Given the description of an element on the screen output the (x, y) to click on. 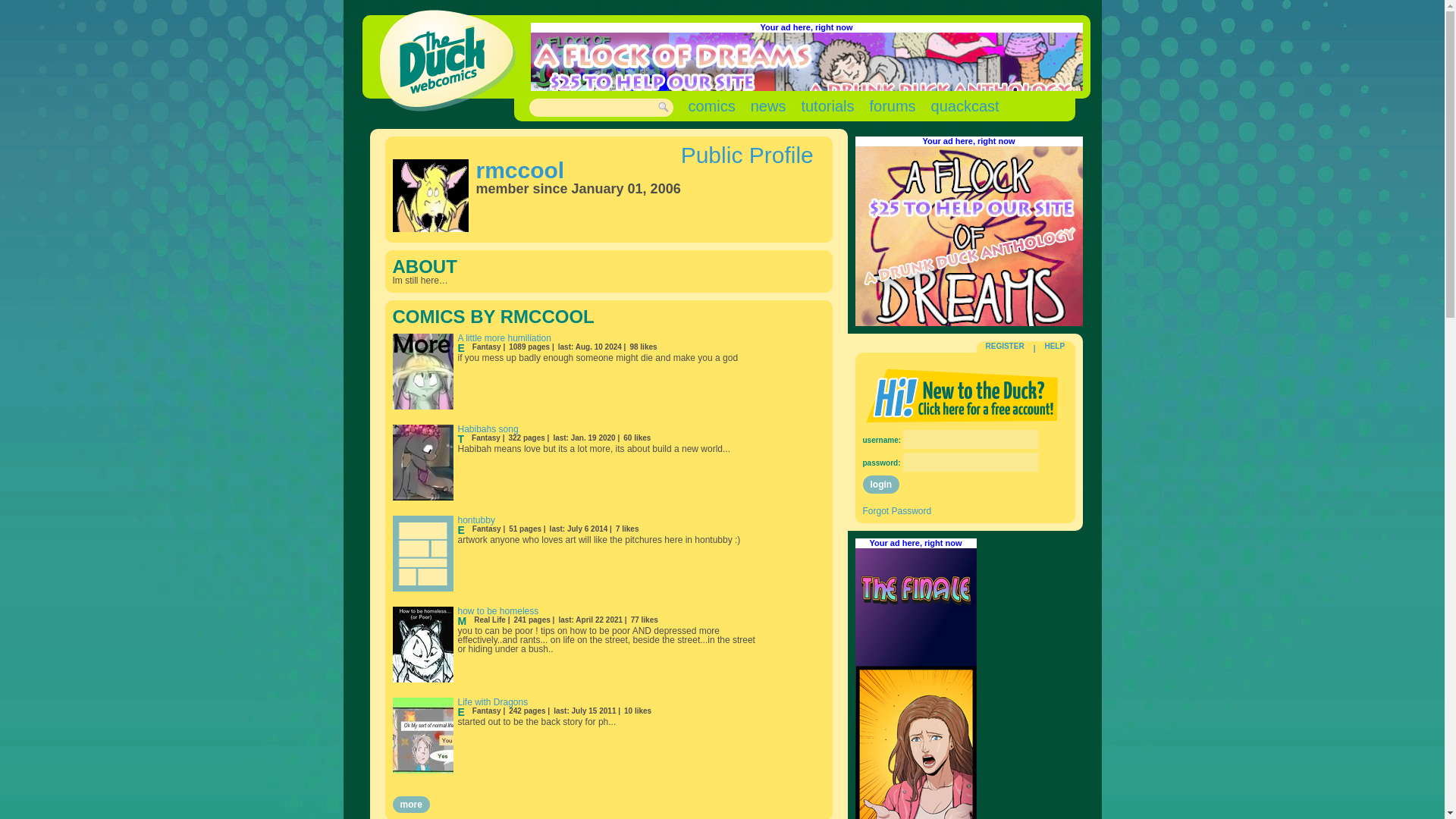
Habibahs song (488, 429)
A little more humiliation (504, 337)
forums (892, 105)
Your ad here, right now (805, 26)
news (768, 105)
hontubby (476, 520)
Life with Dragons (493, 701)
more (411, 804)
how to be homeless (498, 611)
login (881, 484)
